Given the description of an element on the screen output the (x, y) to click on. 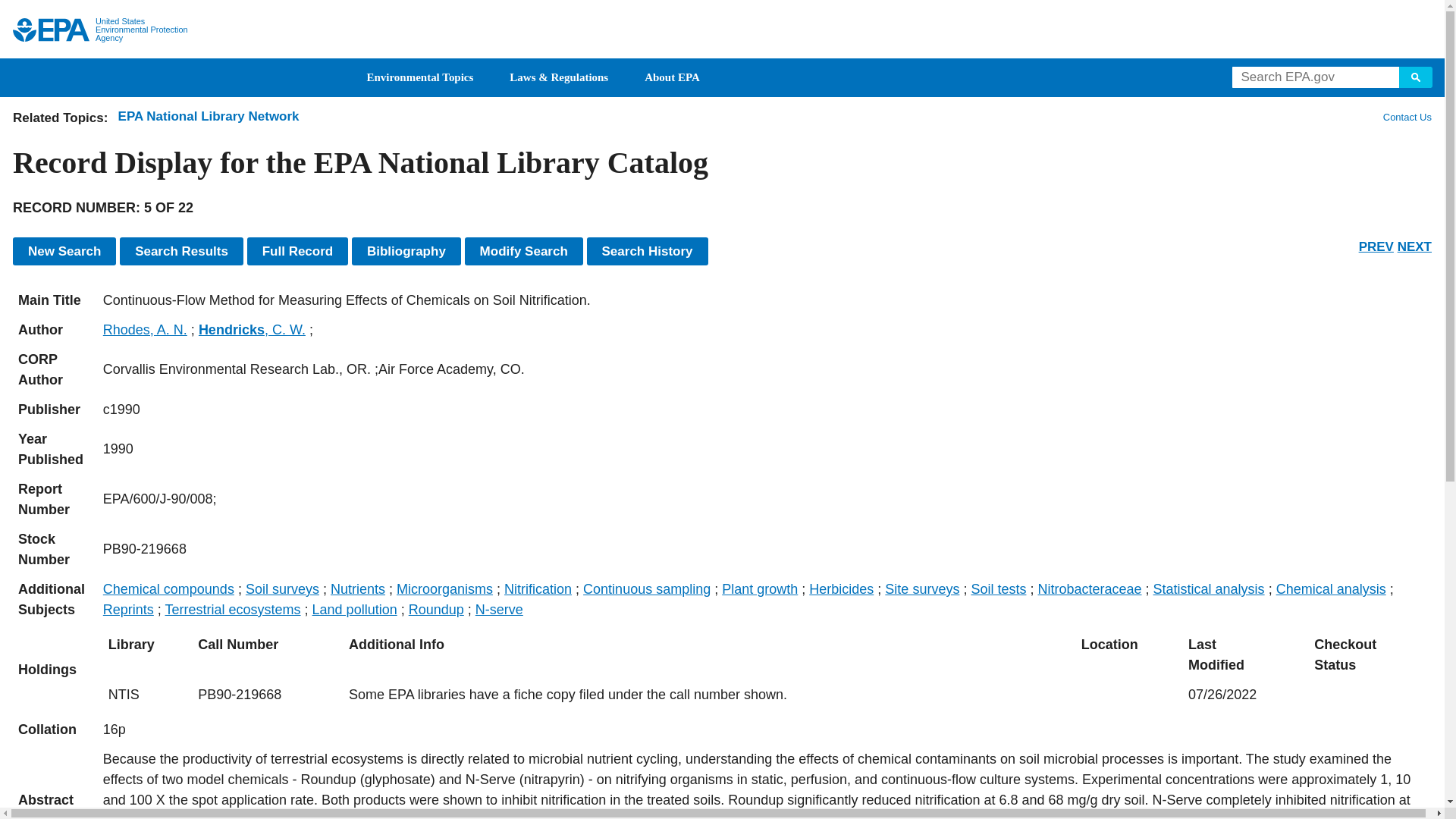
full length text available by clicking full record (764, 784)
About EPA (671, 77)
Full Record (298, 251)
Nitrobacteraceae (1088, 589)
Modify the existing search criteria (523, 251)
Modify Search (523, 251)
Show results in standard format (181, 251)
EPA National Library Network (208, 115)
Learn about Environmental Topics that EPA covers. (420, 77)
Chemical analysis (1331, 589)
Search History (646, 251)
Site surveys (922, 589)
Go to the home page (50, 29)
Microorganisms (444, 589)
Jump to main content (723, 9)
